Given the description of an element on the screen output the (x, y) to click on. 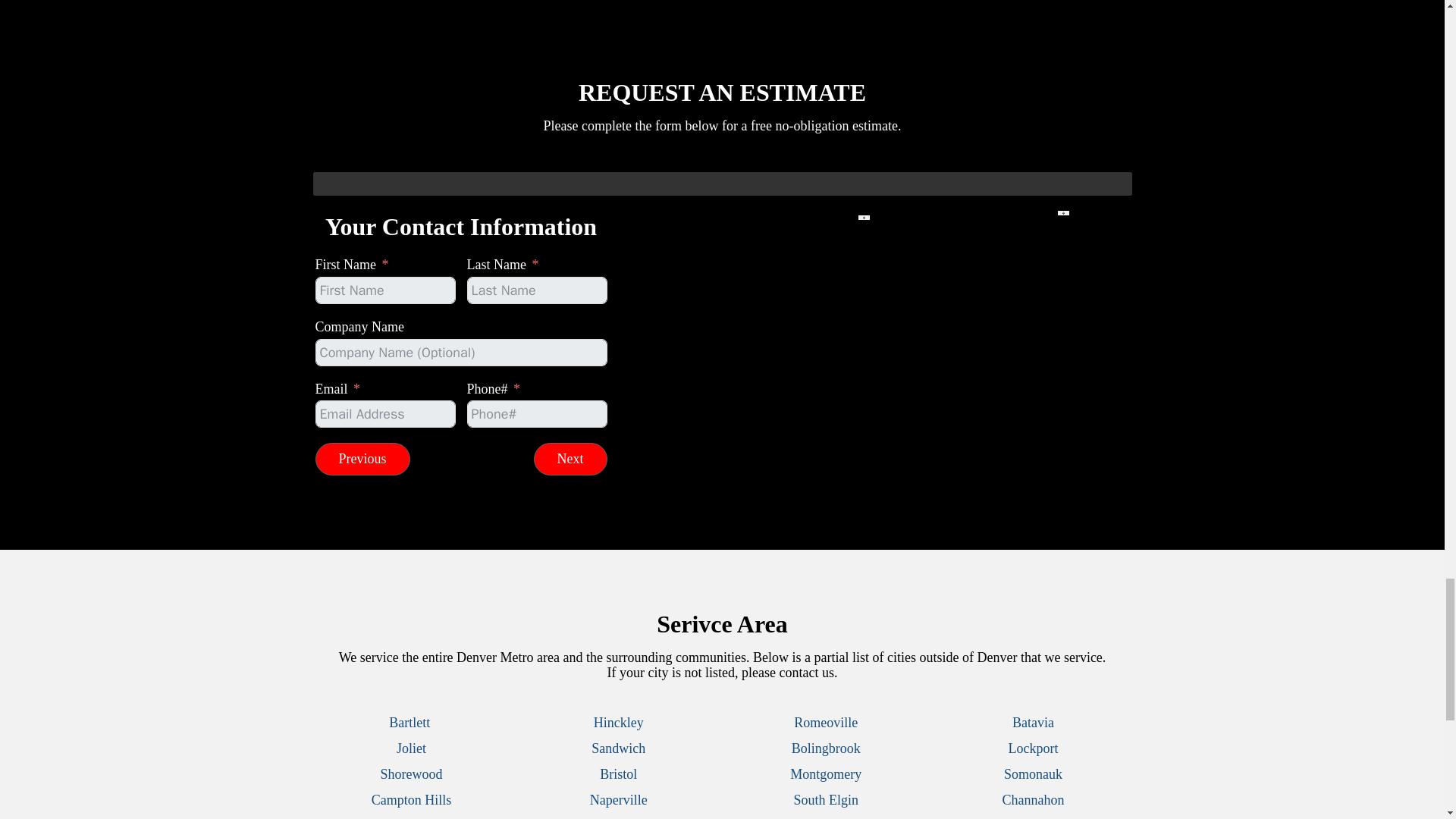
Previous (362, 459)
Commercial (616, 288)
Residential  (616, 307)
